Given the description of an element on the screen output the (x, y) to click on. 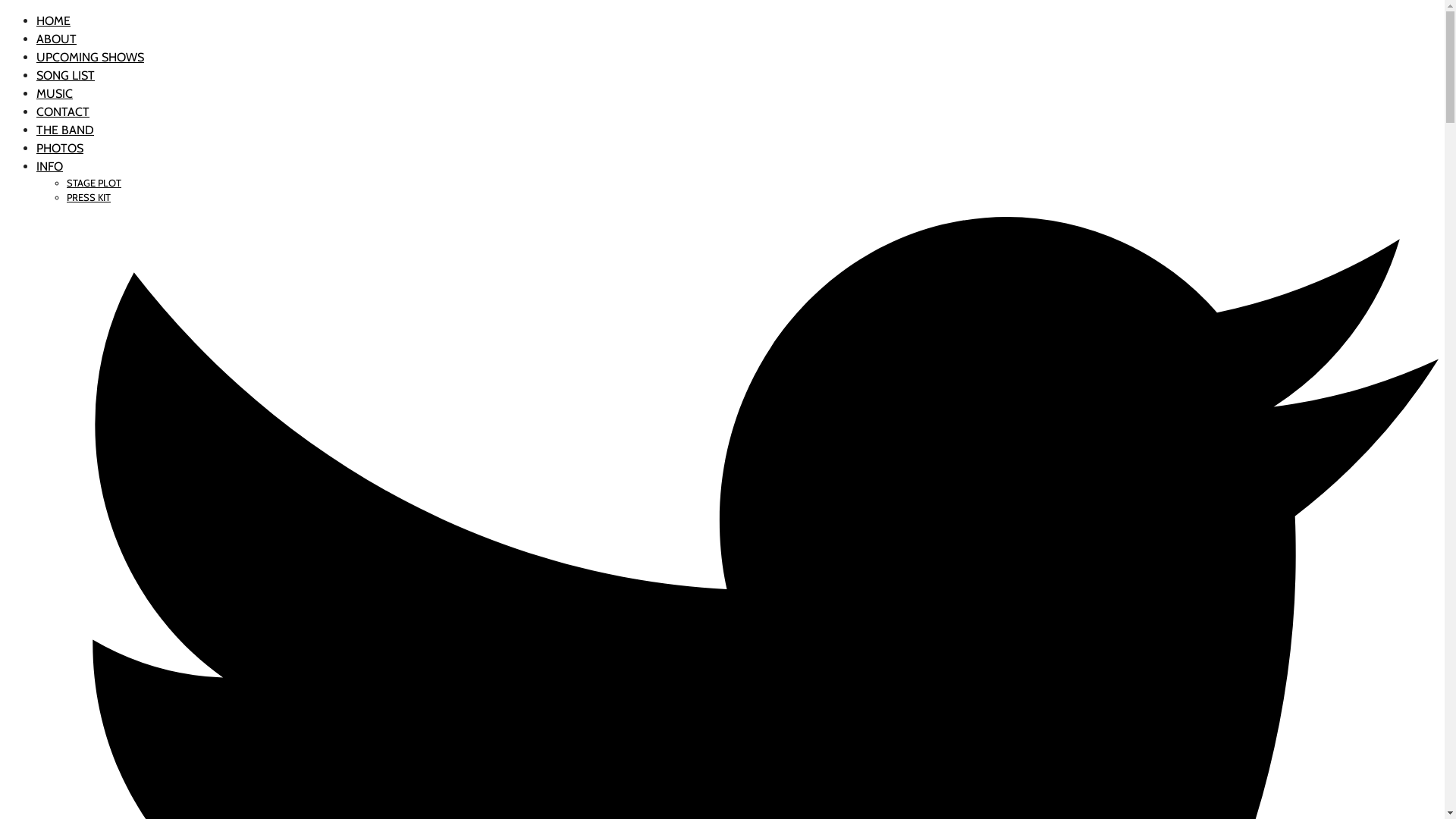
PRESS KIT Element type: text (88, 197)
STAGE PLOT Element type: text (93, 182)
CONTACT Element type: text (62, 111)
PHOTOS Element type: text (59, 148)
THE BAND Element type: text (65, 129)
INFO Element type: text (49, 166)
SONG LIST Element type: text (65, 75)
MUSIC Element type: text (54, 93)
UPCOMING SHOWS Element type: text (90, 57)
HOME Element type: text (53, 20)
ABOUT Element type: text (56, 38)
